Given the description of an element on the screen output the (x, y) to click on. 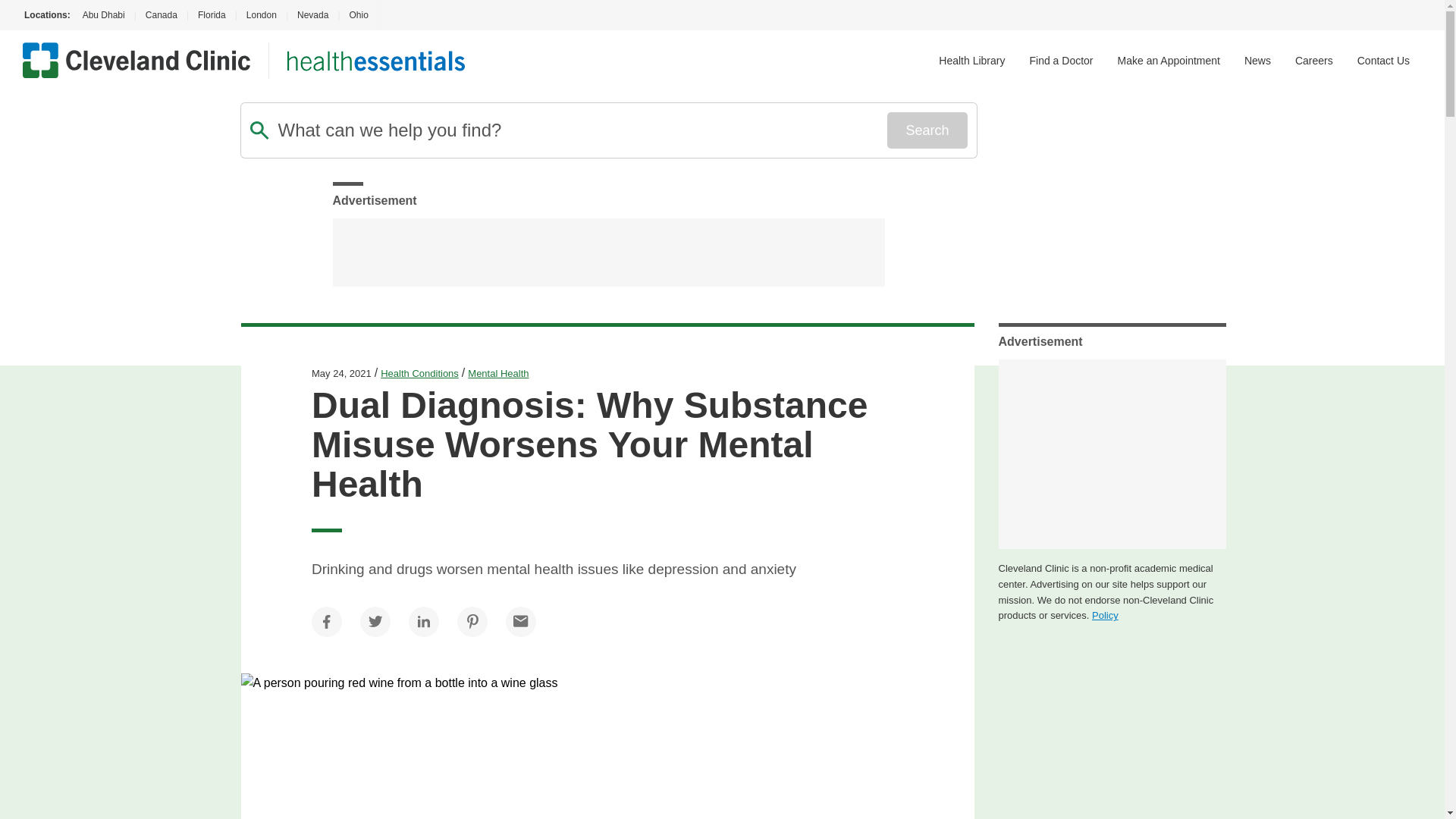
Make an Appointment (1169, 60)
Canada (161, 15)
Contact Us (1382, 60)
Abu Dhabi (101, 15)
London (261, 15)
Florida (211, 15)
Health Conditions (419, 373)
Nevada (312, 15)
Find a Doctor (1061, 60)
Ohio (358, 15)
Careers (1314, 60)
News (1257, 60)
Mental Health (497, 373)
Health Library (971, 60)
